Given the description of an element on the screen output the (x, y) to click on. 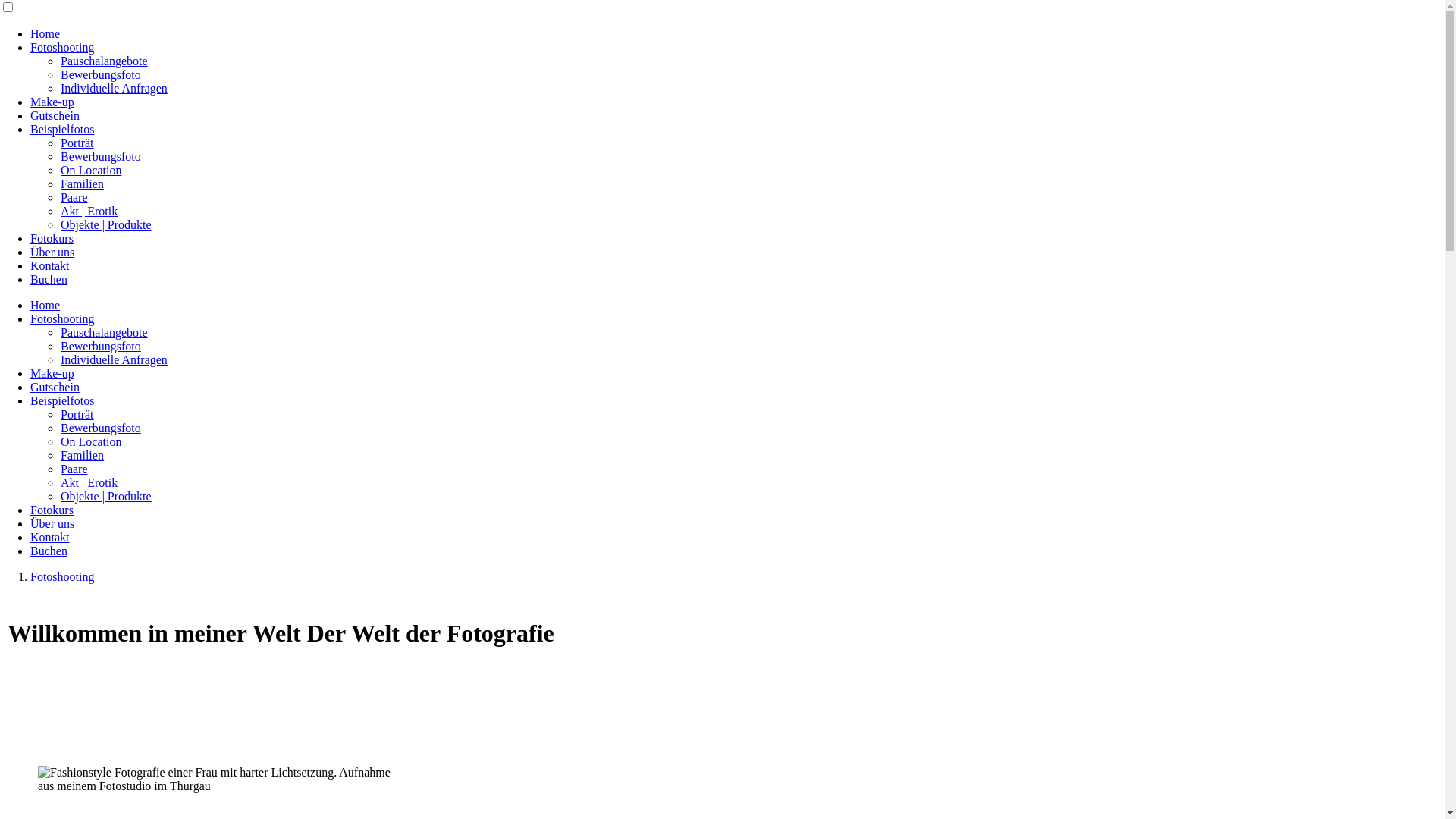
Familien Element type: text (81, 183)
Bewerbungsfoto Element type: text (100, 427)
Fotoshooting Element type: text (62, 576)
Bewerbungsfoto Element type: text (100, 74)
Pauschalangebote Element type: text (103, 332)
Fotoshooting Element type: text (62, 318)
Kontakt Element type: text (49, 536)
Individuelle Anfragen Element type: text (113, 359)
Buchen Element type: text (48, 550)
Akt | Erotik Element type: text (88, 482)
Familien Element type: text (81, 454)
Buchen Element type: text (48, 279)
Home Element type: text (44, 33)
Gutschein Element type: text (54, 386)
Objekte | Produkte Element type: text (105, 224)
Kontakt Element type: text (49, 265)
Home Element type: text (44, 304)
Bewerbungsfoto Element type: text (100, 156)
Fotoshooting Element type: text (62, 46)
Fotokurs Element type: text (51, 509)
Paare Element type: text (73, 197)
Individuelle Anfragen Element type: text (113, 87)
Make-up Element type: text (52, 373)
On Location Element type: text (90, 169)
Paare Element type: text (73, 468)
Bewerbungsfoto Element type: text (100, 345)
Objekte | Produkte Element type: text (105, 495)
Gutschein Element type: text (54, 115)
On Location Element type: text (90, 441)
Make-up Element type: text (52, 101)
Beispielfotos Element type: text (62, 400)
Fotokurs Element type: text (51, 238)
Pauschalangebote Element type: text (103, 60)
Akt | Erotik Element type: text (88, 210)
Beispielfotos Element type: text (62, 128)
